Given the description of an element on the screen output the (x, y) to click on. 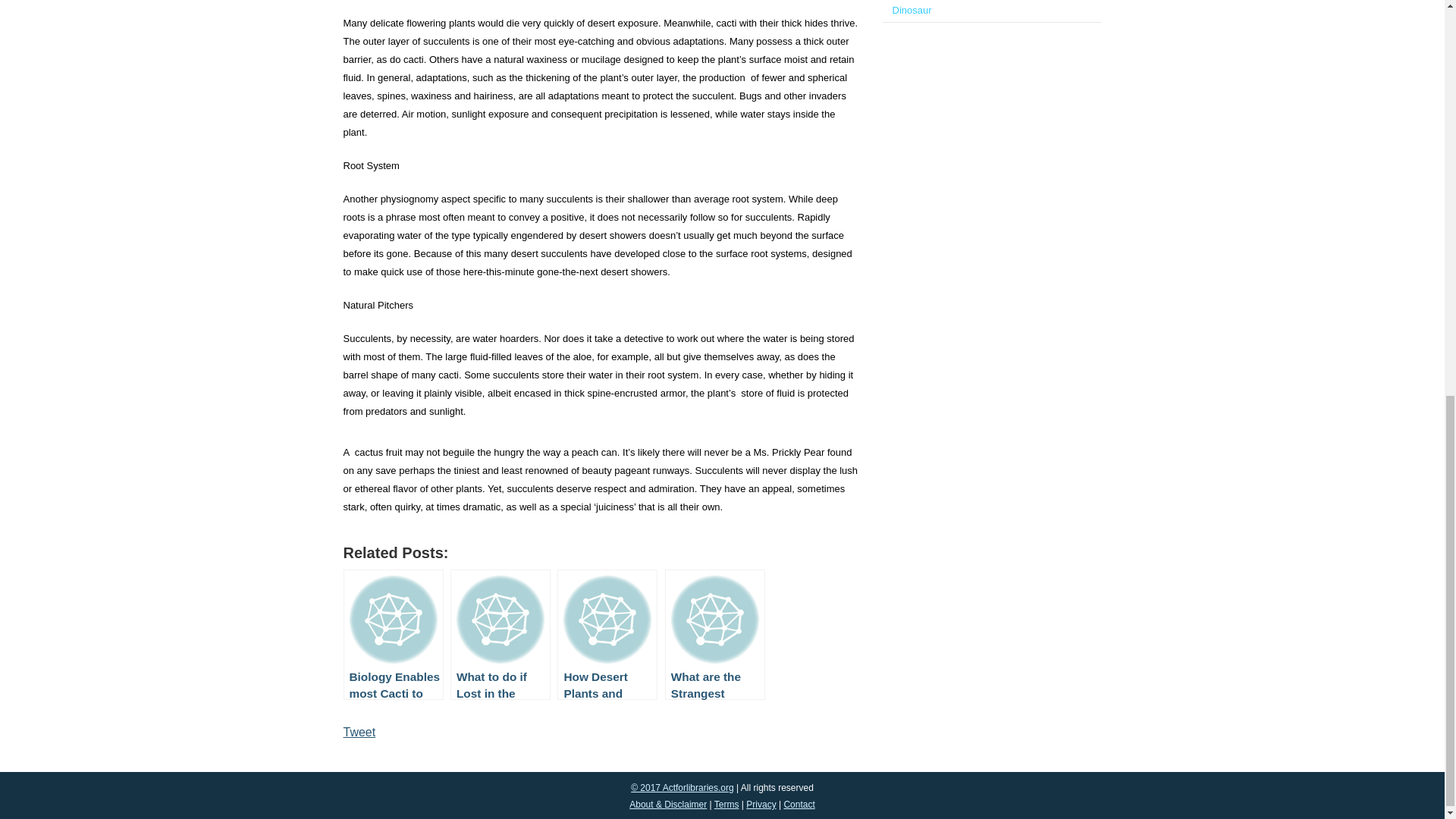
Contact (798, 804)
Privacy (760, 804)
Paleontologist wants to Create a Living Dinosaur (976, 7)
Tweet (358, 731)
Terms (726, 804)
